Given the description of an element on the screen output the (x, y) to click on. 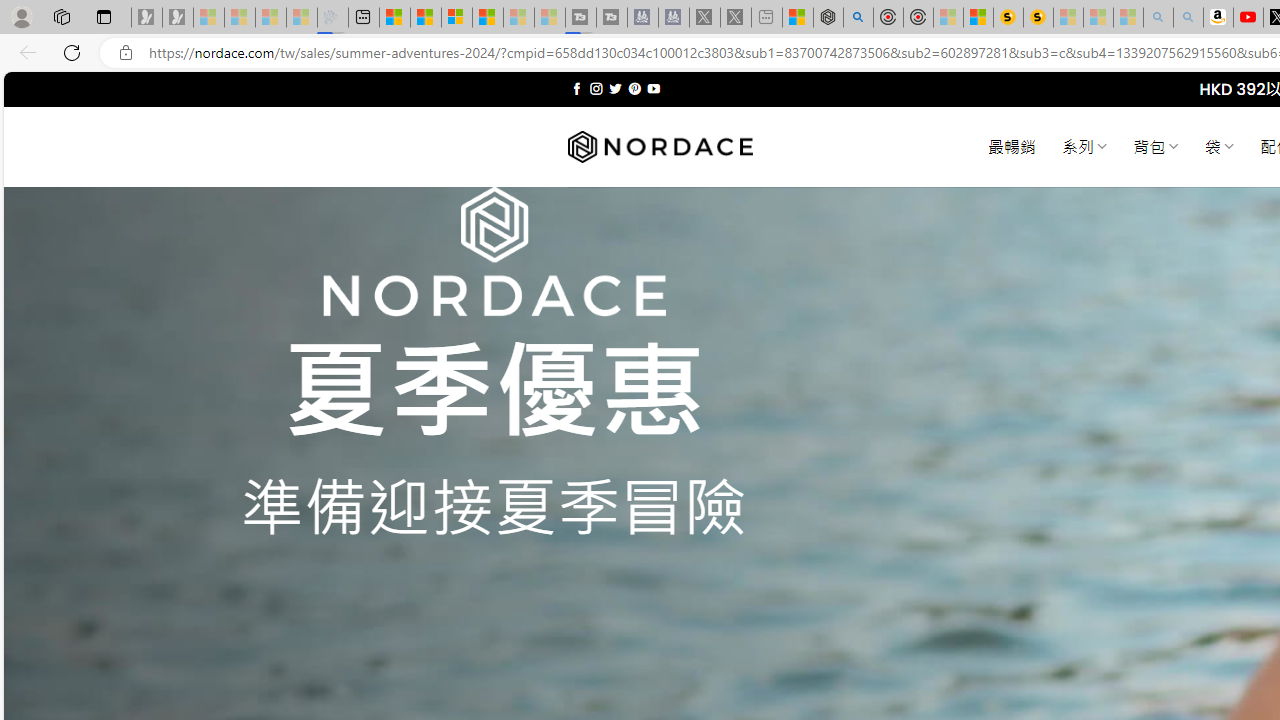
Amazon Echo Dot PNG - Search Images - Sleeping (1188, 17)
